Given the description of an element on the screen output the (x, y) to click on. 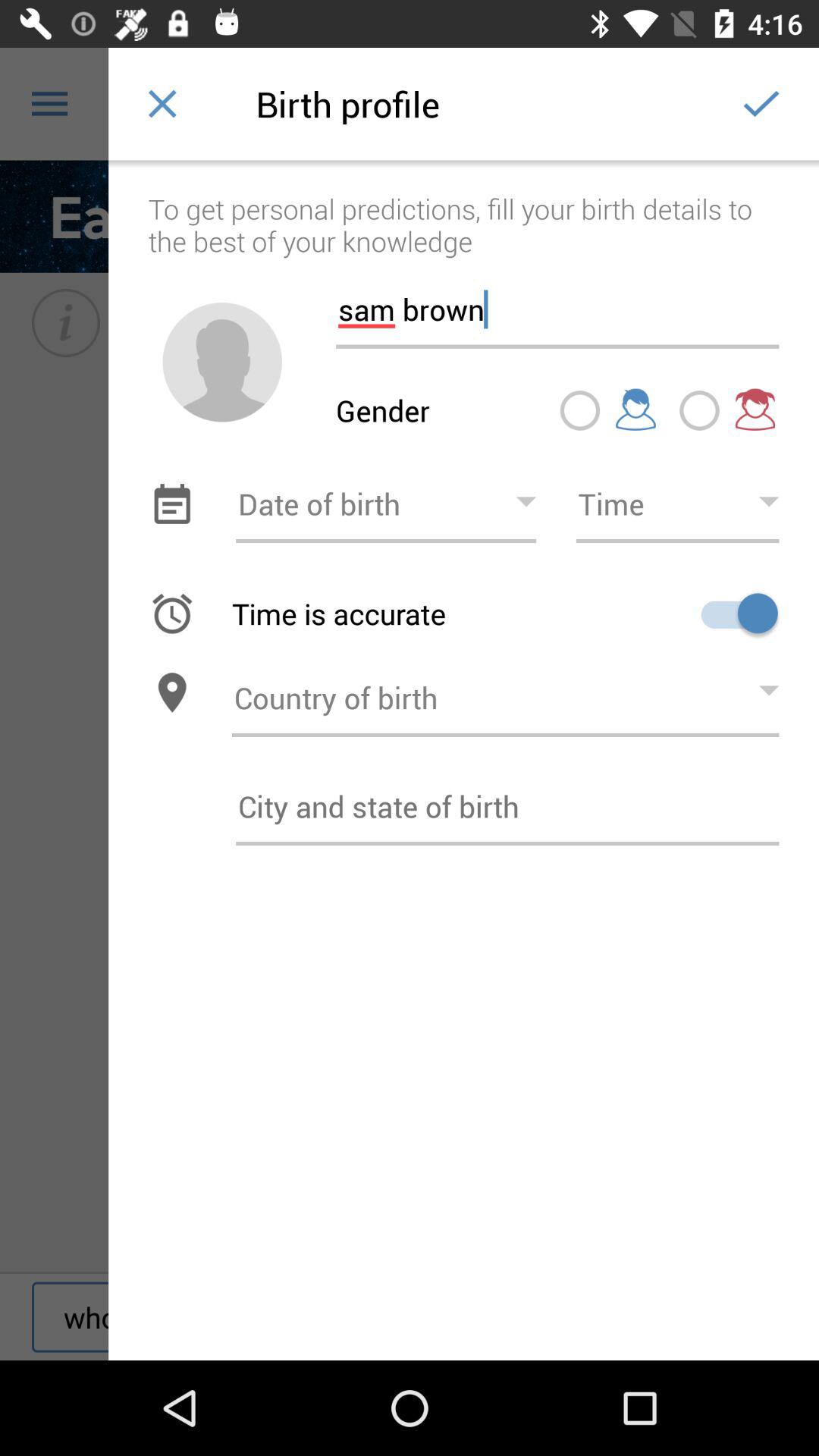
enter country of birth (505, 692)
